Given the description of an element on the screen output the (x, y) to click on. 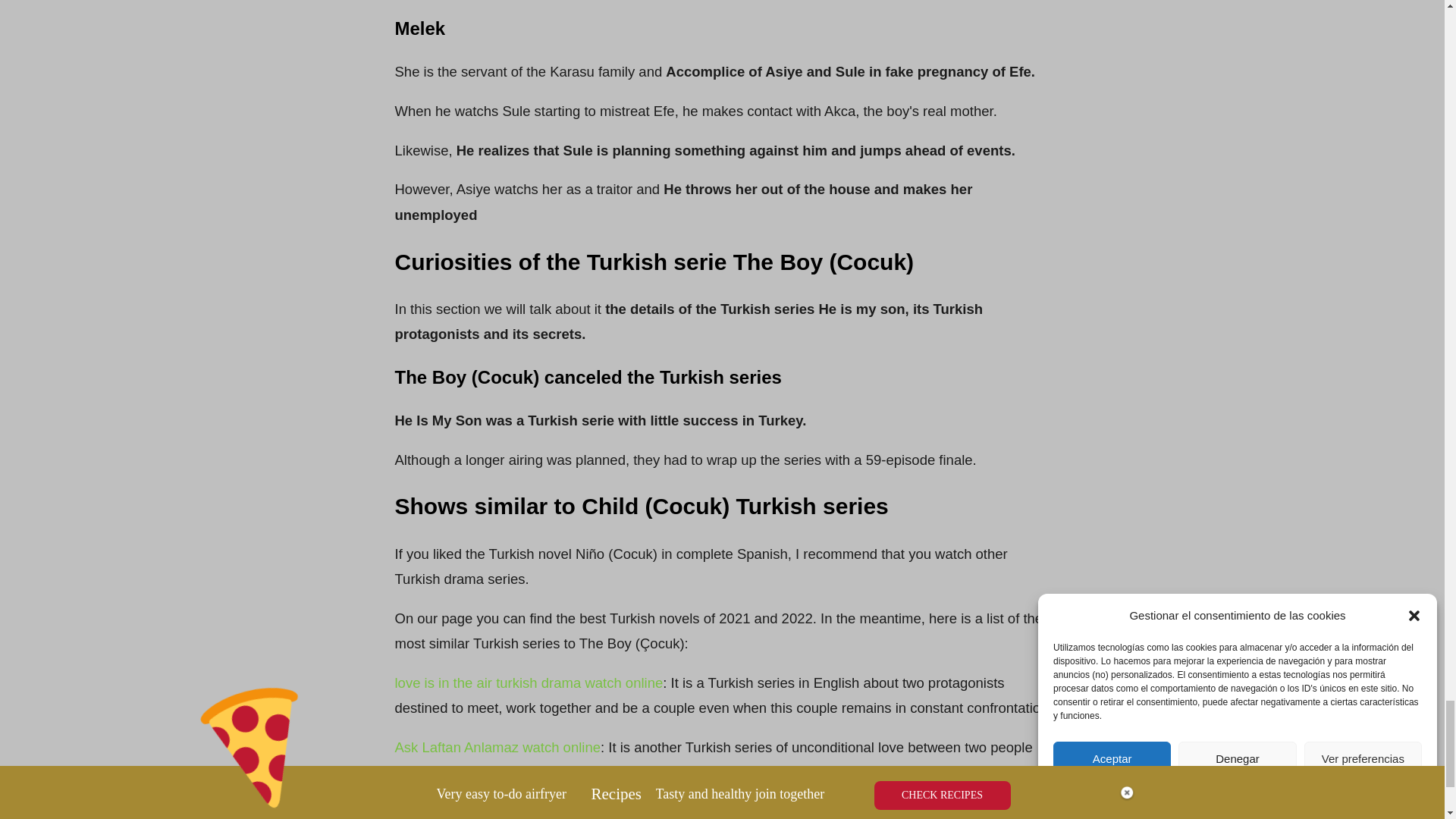
love is in the air turkish drama watch online (528, 682)
love is in the air turkish drama watch online (528, 682)
ask laftan anlamaz watch online (496, 747)
Ask Laftan Anlamaz watch online (496, 747)
